Given the description of an element on the screen output the (x, y) to click on. 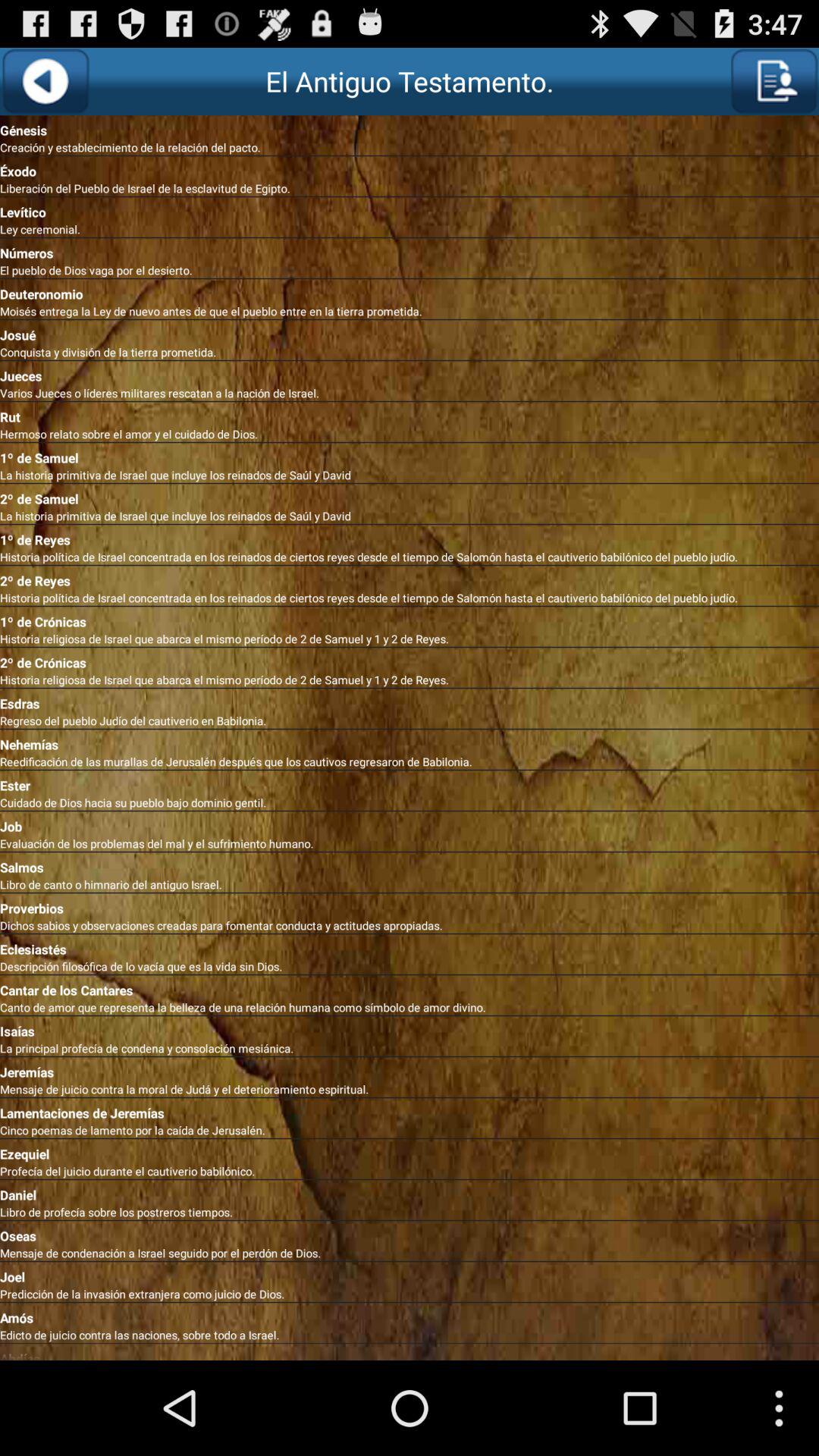
select the button at the top right corner (773, 81)
